Given the description of an element on the screen output the (x, y) to click on. 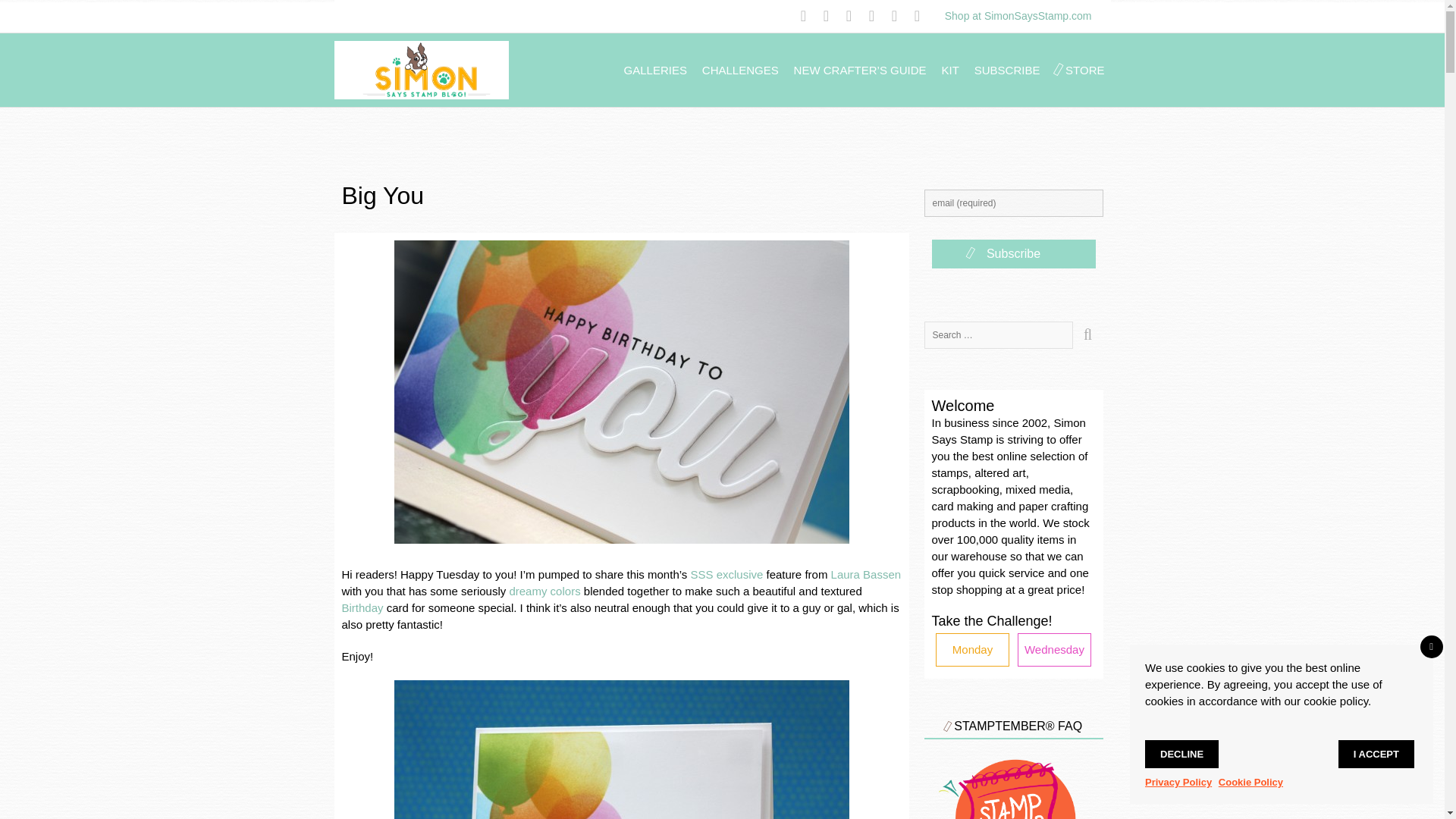
SSS exclusive (726, 574)
STORE (1084, 69)
dreamy colors (543, 590)
CHALLENGES (739, 69)
Subscribe (1012, 253)
GALLERIES (655, 69)
Search (1086, 334)
KIT (950, 69)
Birthday (361, 607)
SUBSCRIBE (1007, 69)
